Given the description of an element on the screen output the (x, y) to click on. 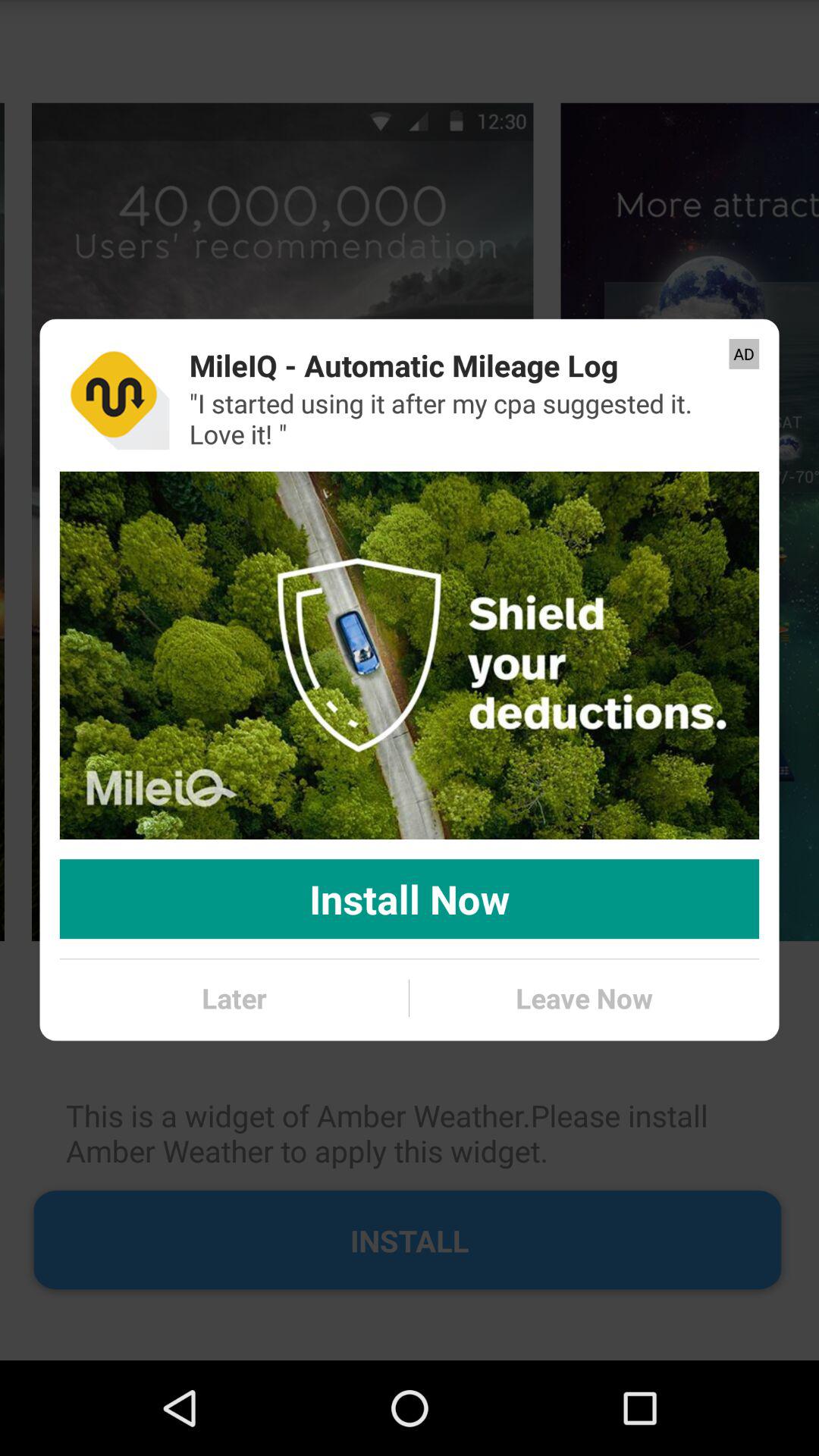
tap later icon (233, 997)
